Given the description of an element on the screen output the (x, y) to click on. 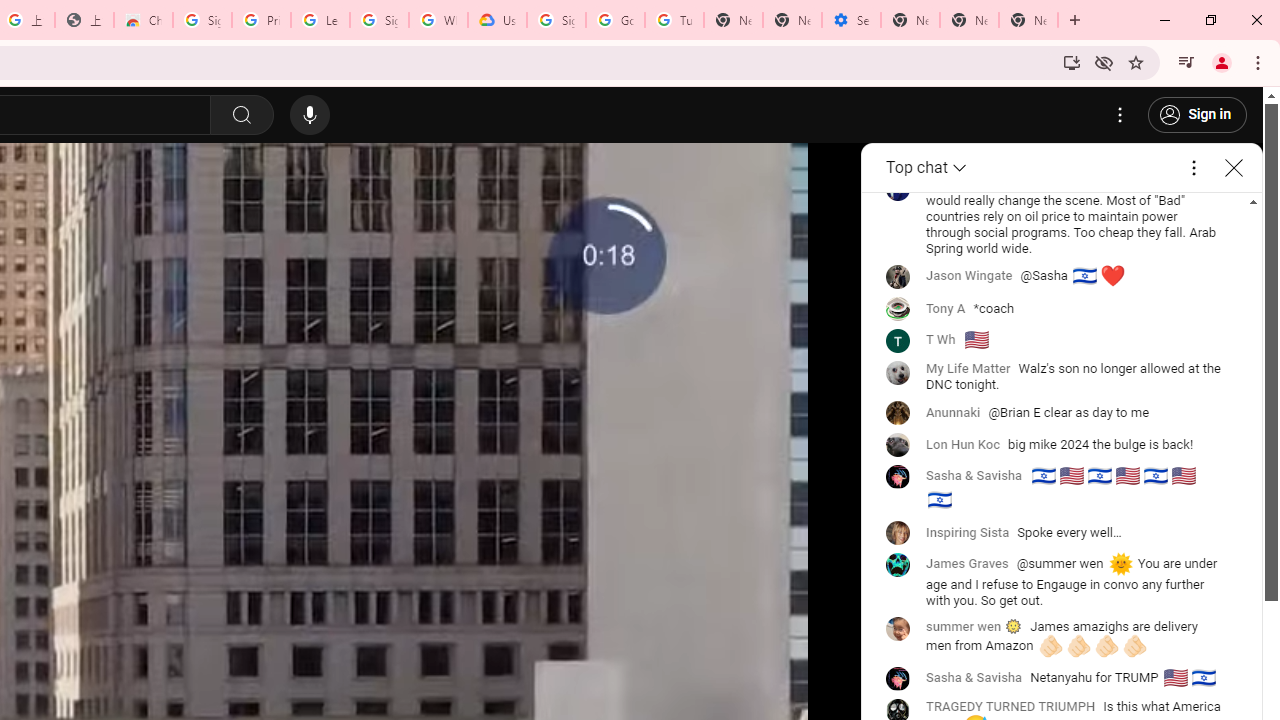
Sign in - Google Accounts (379, 20)
Live Chat mode selection (928, 168)
Install YouTube (1071, 62)
Google Account Help (615, 20)
Chrome Web Store (142, 20)
Sign in - Google Accounts (556, 20)
